Given the description of an element on the screen output the (x, y) to click on. 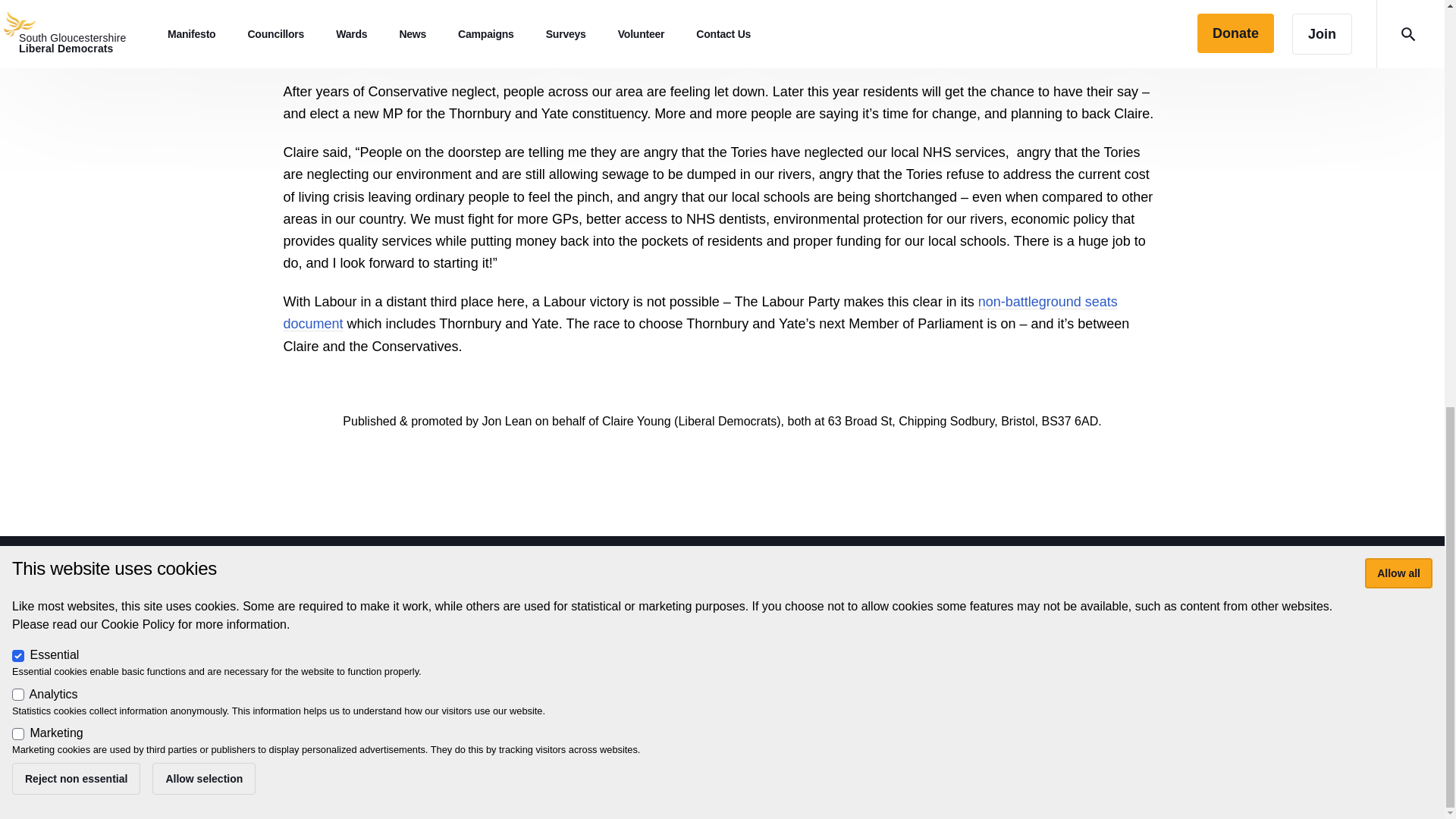
Prater Raines (370, 724)
accessibility statement (635, 676)
Liberal Democrats (406, 707)
non-battleground seats document (700, 312)
cookie policy (741, 676)
